Given the description of an element on the screen output the (x, y) to click on. 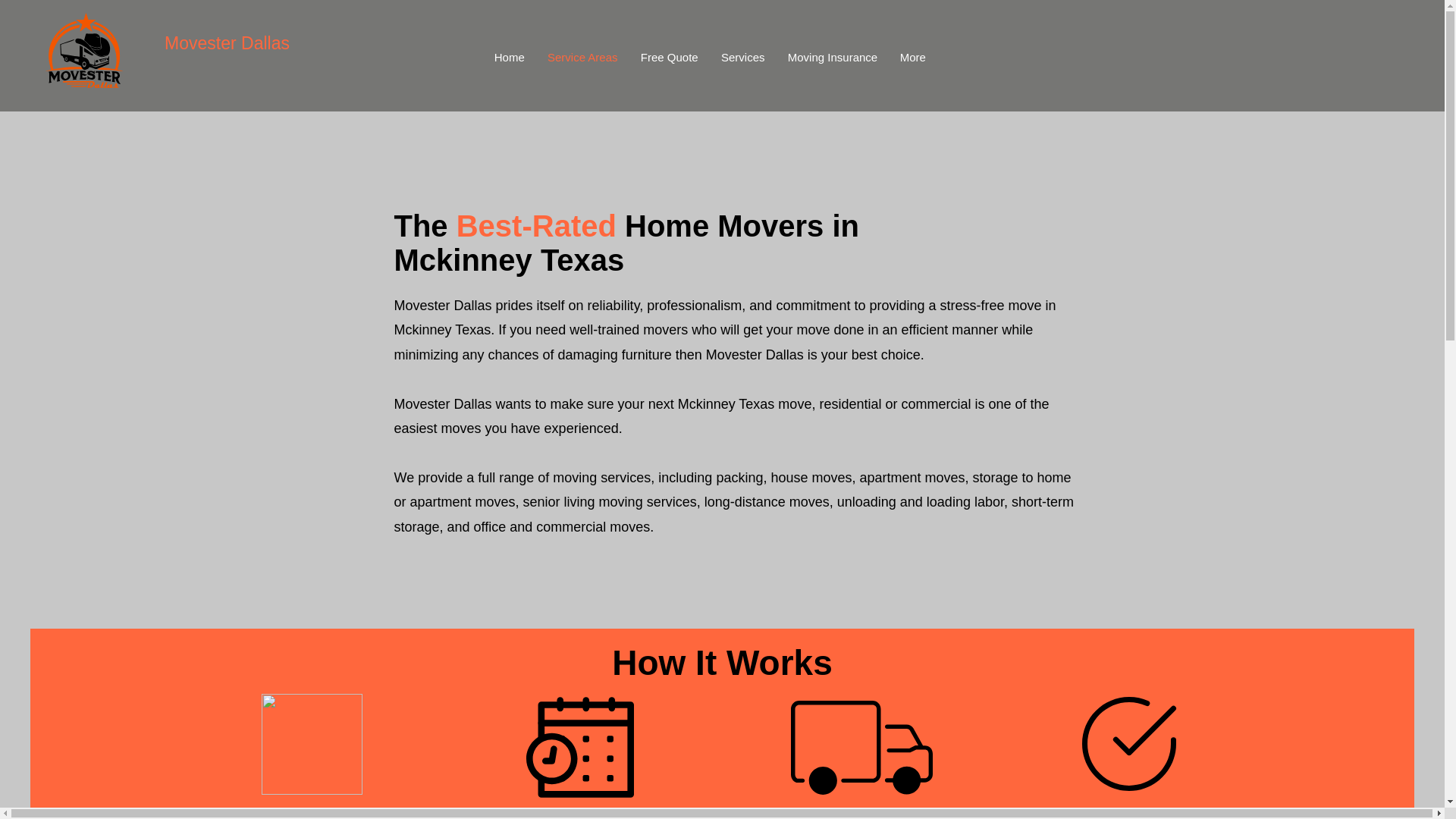
Service Areas (581, 57)
Movester Dallas (226, 43)
Home (509, 57)
price-list.png (310, 743)
